Given the description of an element on the screen output the (x, y) to click on. 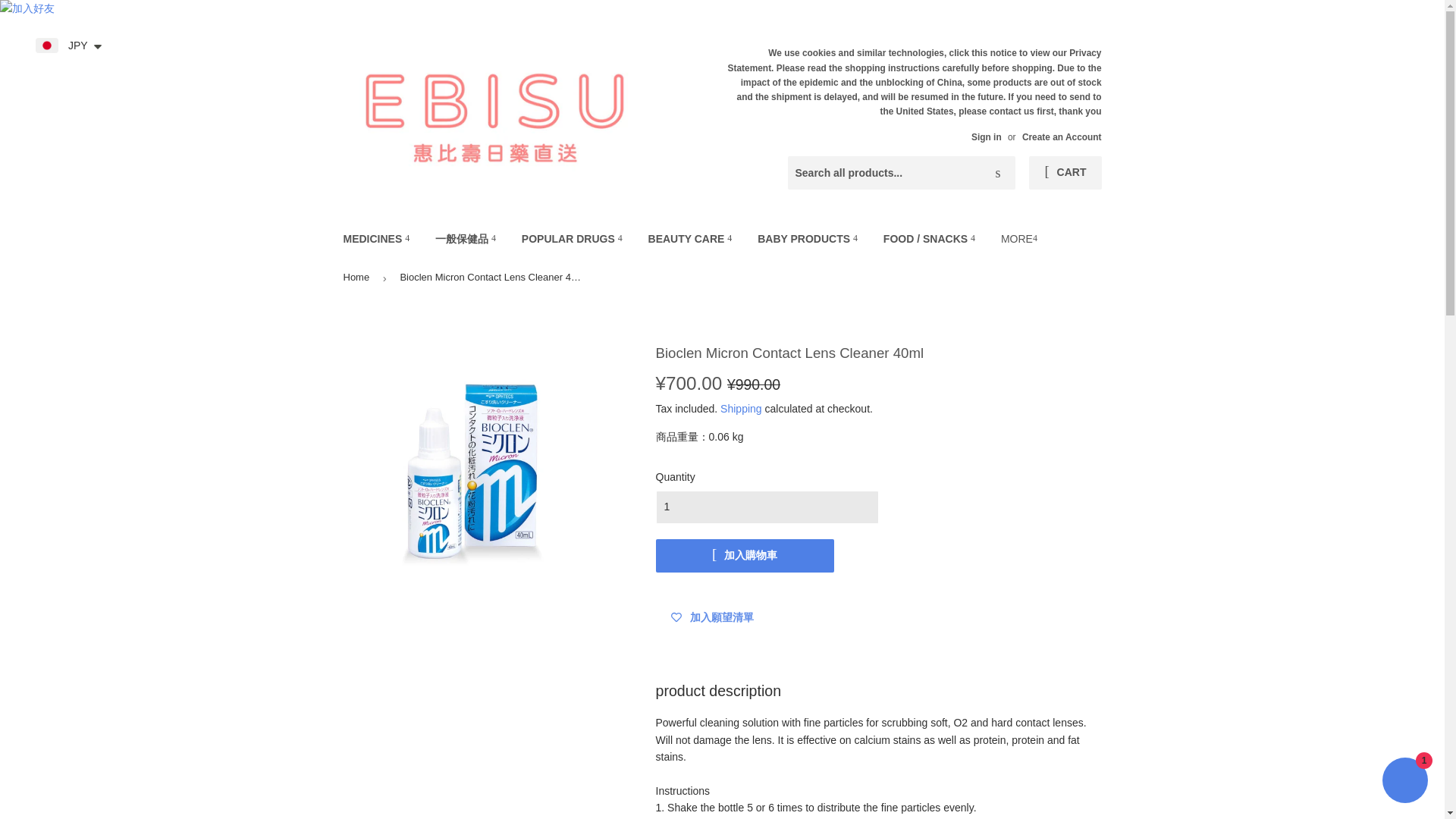
Sign in (986, 136)
CART (1064, 172)
Search (997, 173)
1 (766, 507)
Shopify online store chat (1404, 781)
Create an Account (1062, 136)
